Given the description of an element on the screen output the (x, y) to click on. 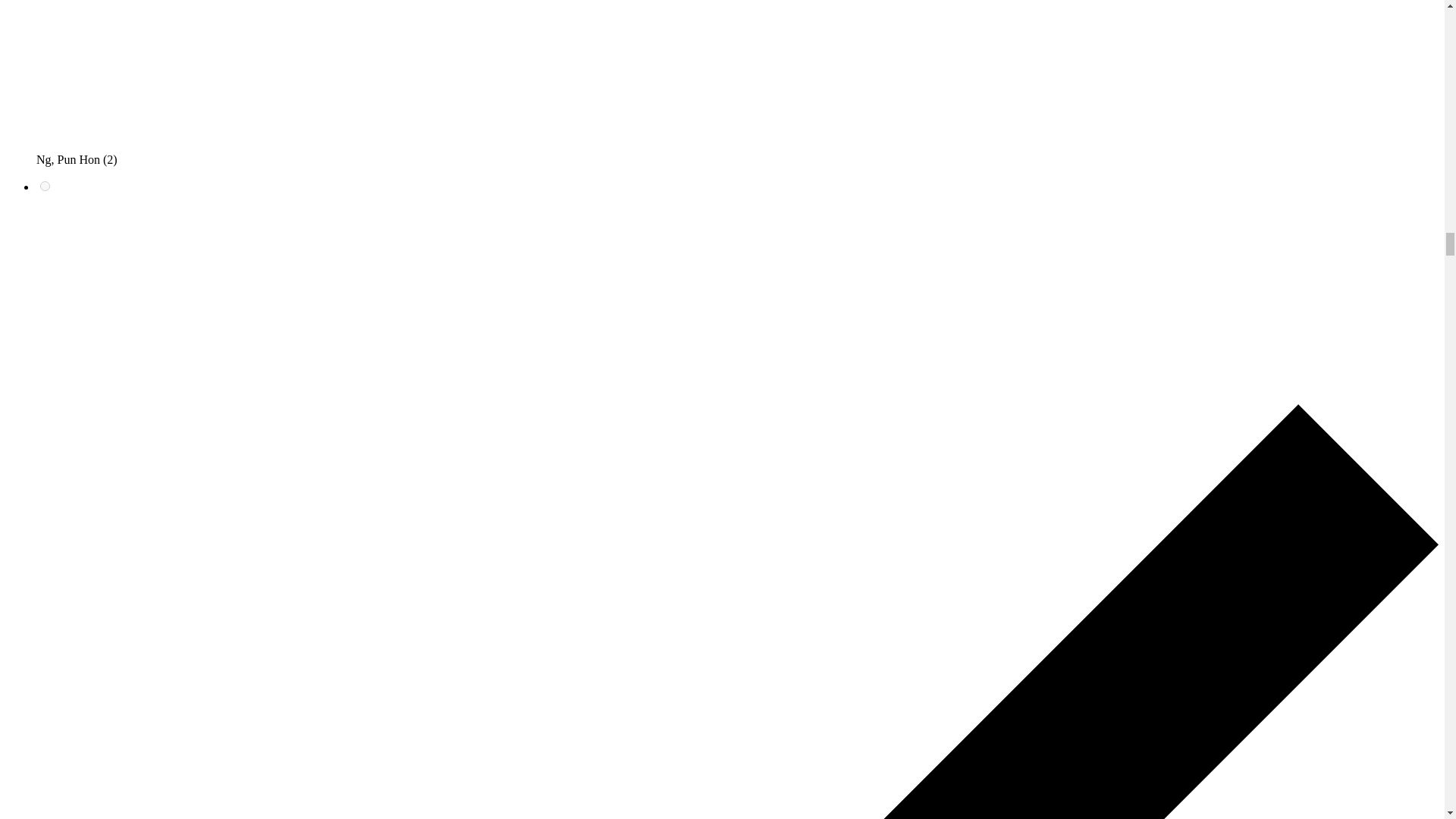
Siu, Brian (44, 185)
